Given the description of an element on the screen output the (x, y) to click on. 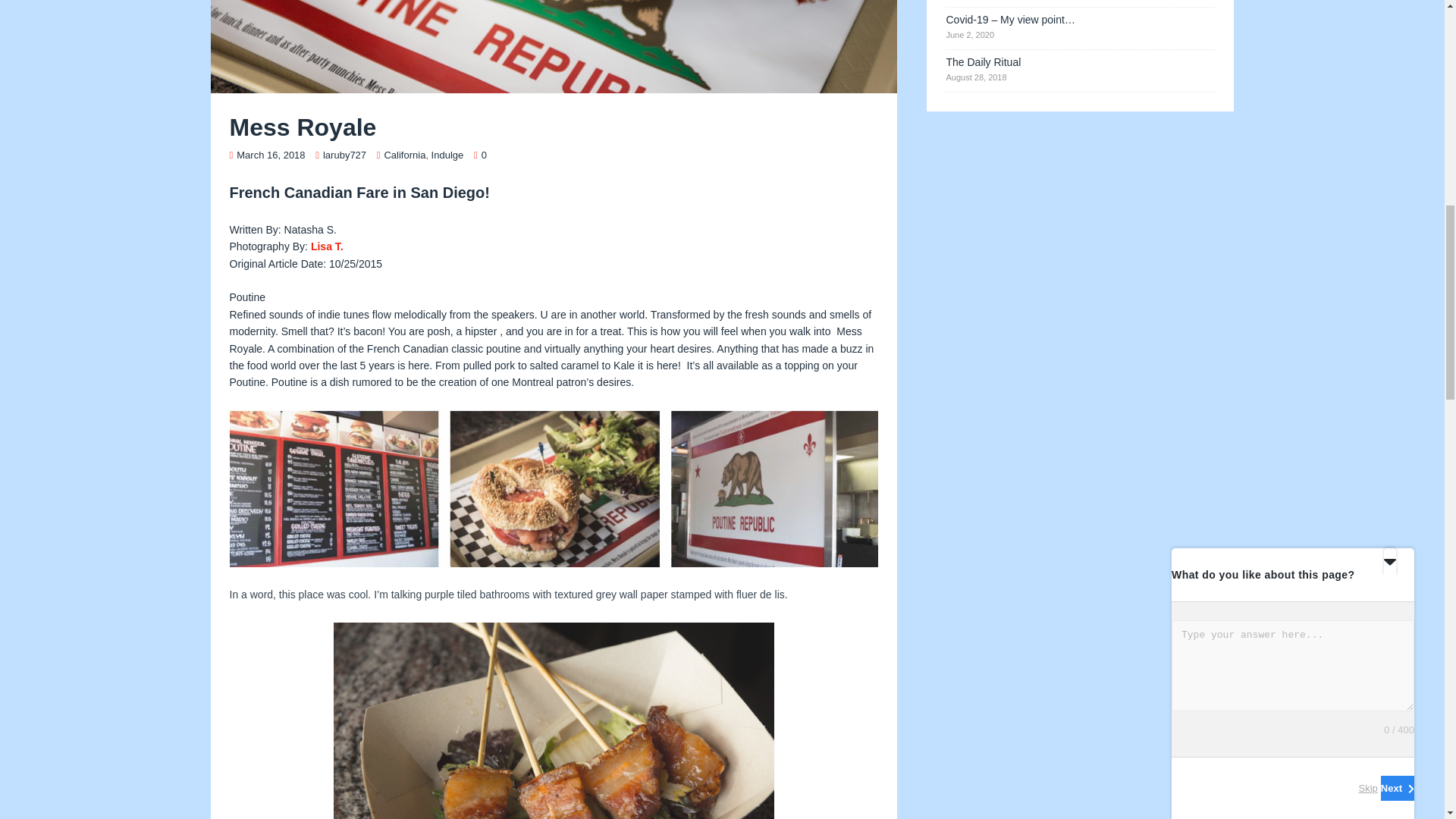
poutine (553, 46)
